Given the description of an element on the screen output the (x, y) to click on. 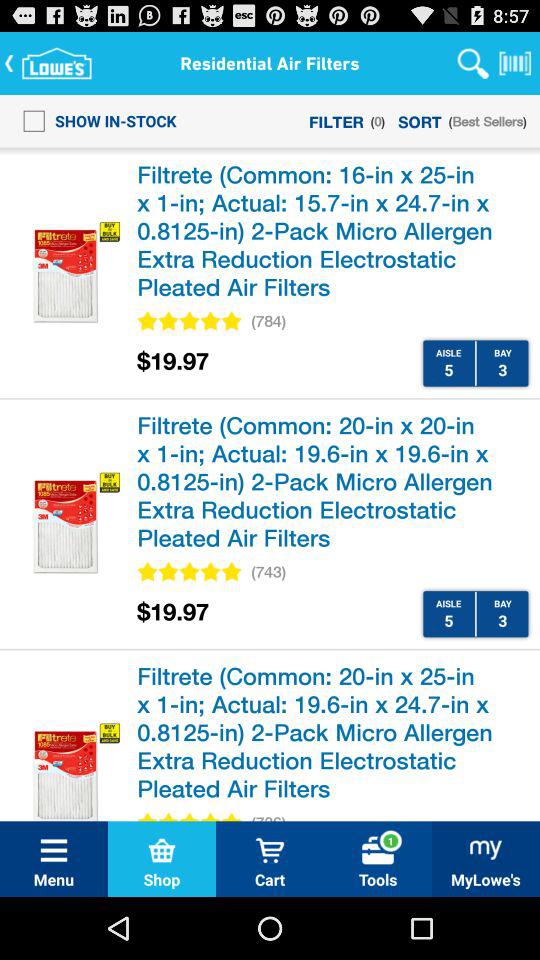
press icon to the right of the show in-stock item (336, 120)
